Given the description of an element on the screen output the (x, y) to click on. 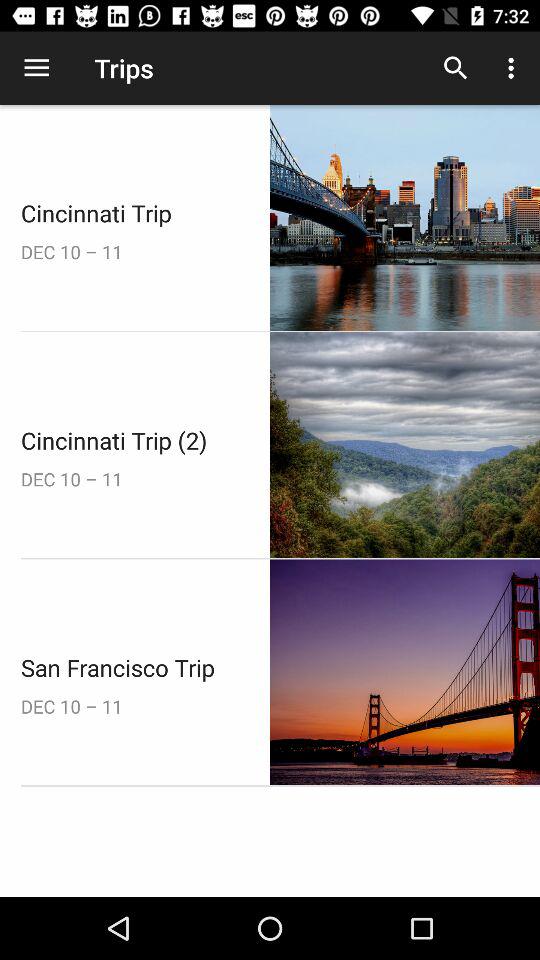
select the icon next to the trips icon (36, 68)
